Given the description of an element on the screen output the (x, y) to click on. 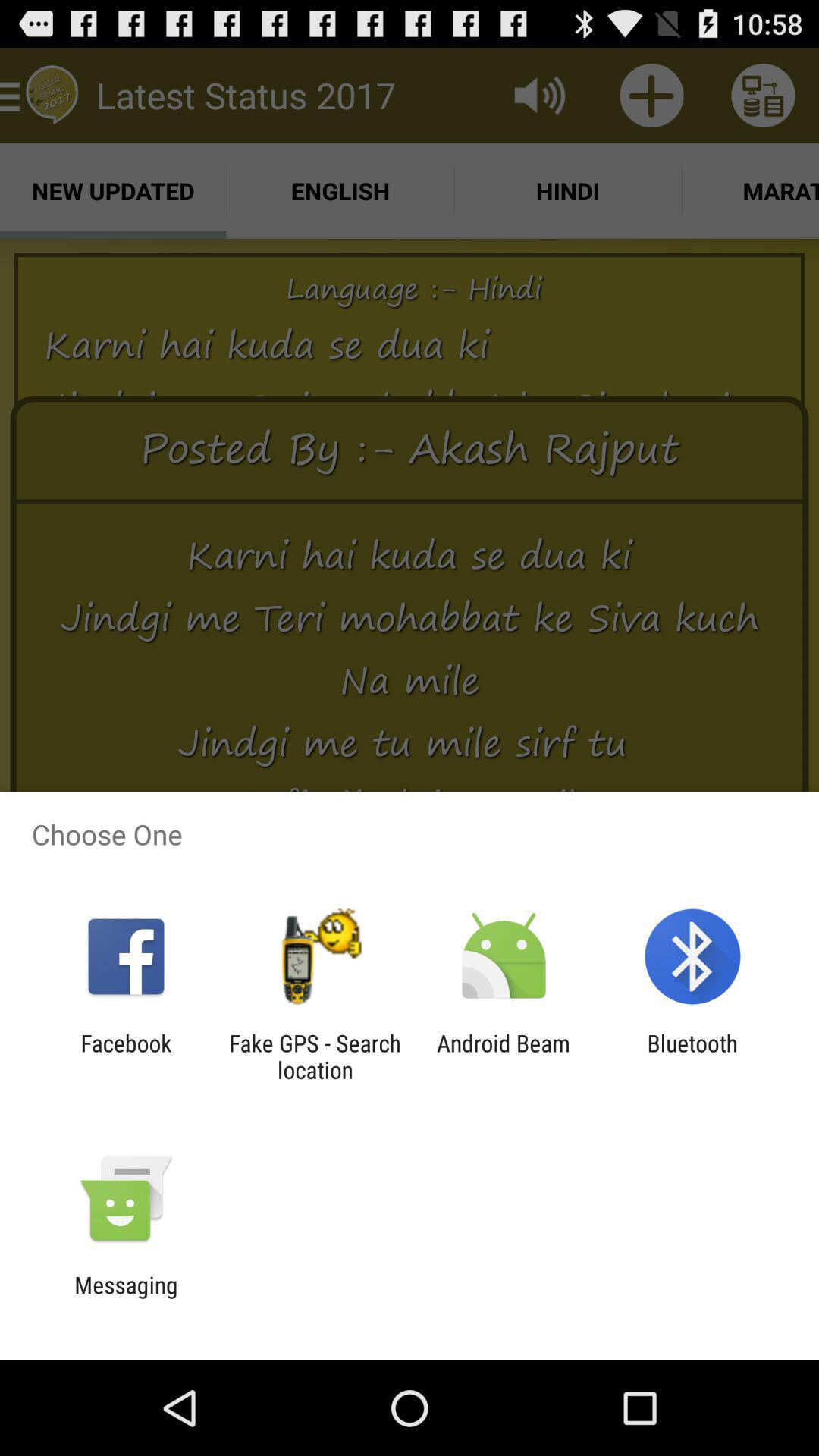
turn on the item to the left of bluetooth (503, 1056)
